Given the description of an element on the screen output the (x, y) to click on. 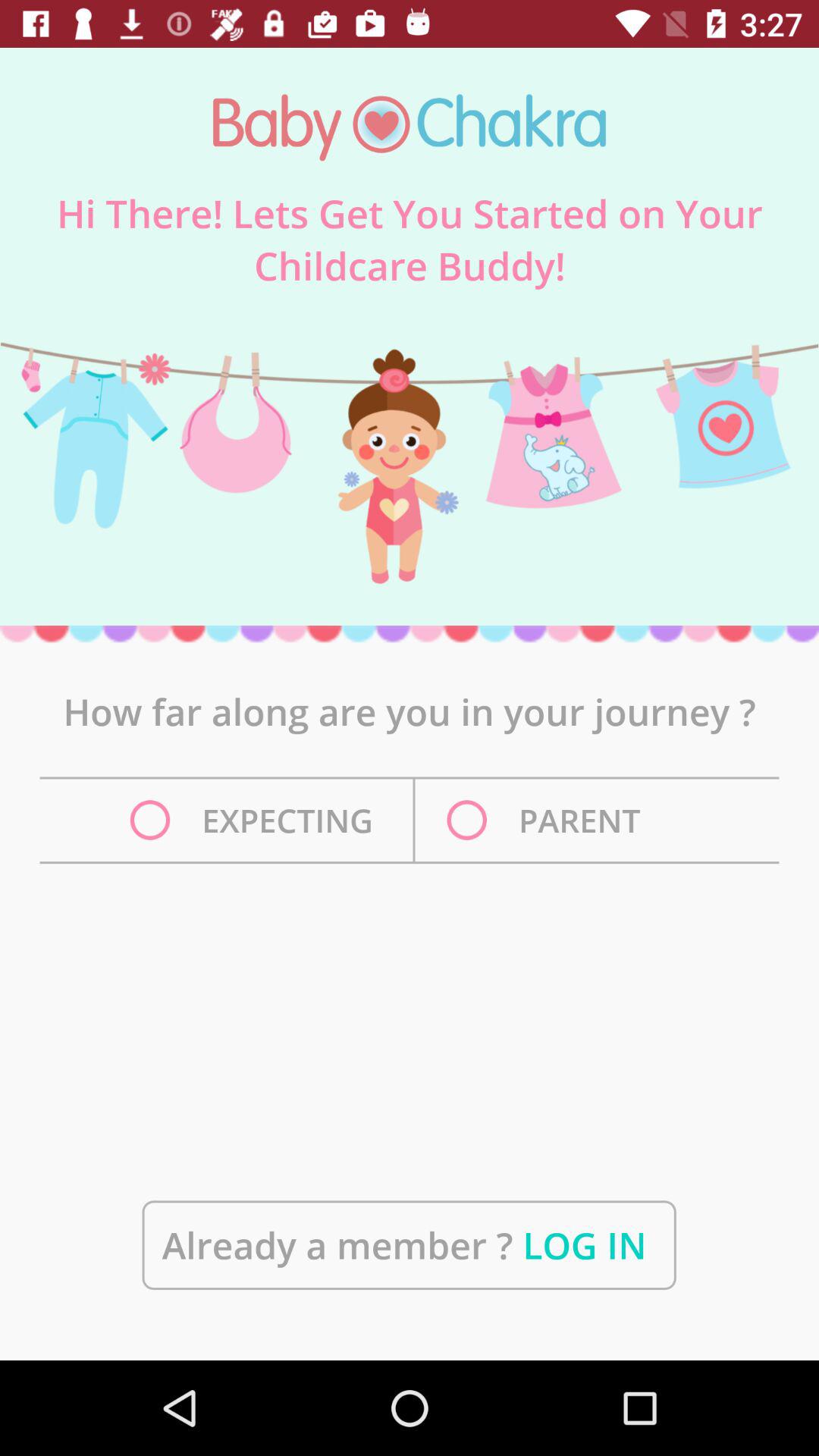
open the expecting on the left (255, 820)
